Given the description of an element on the screen output the (x, y) to click on. 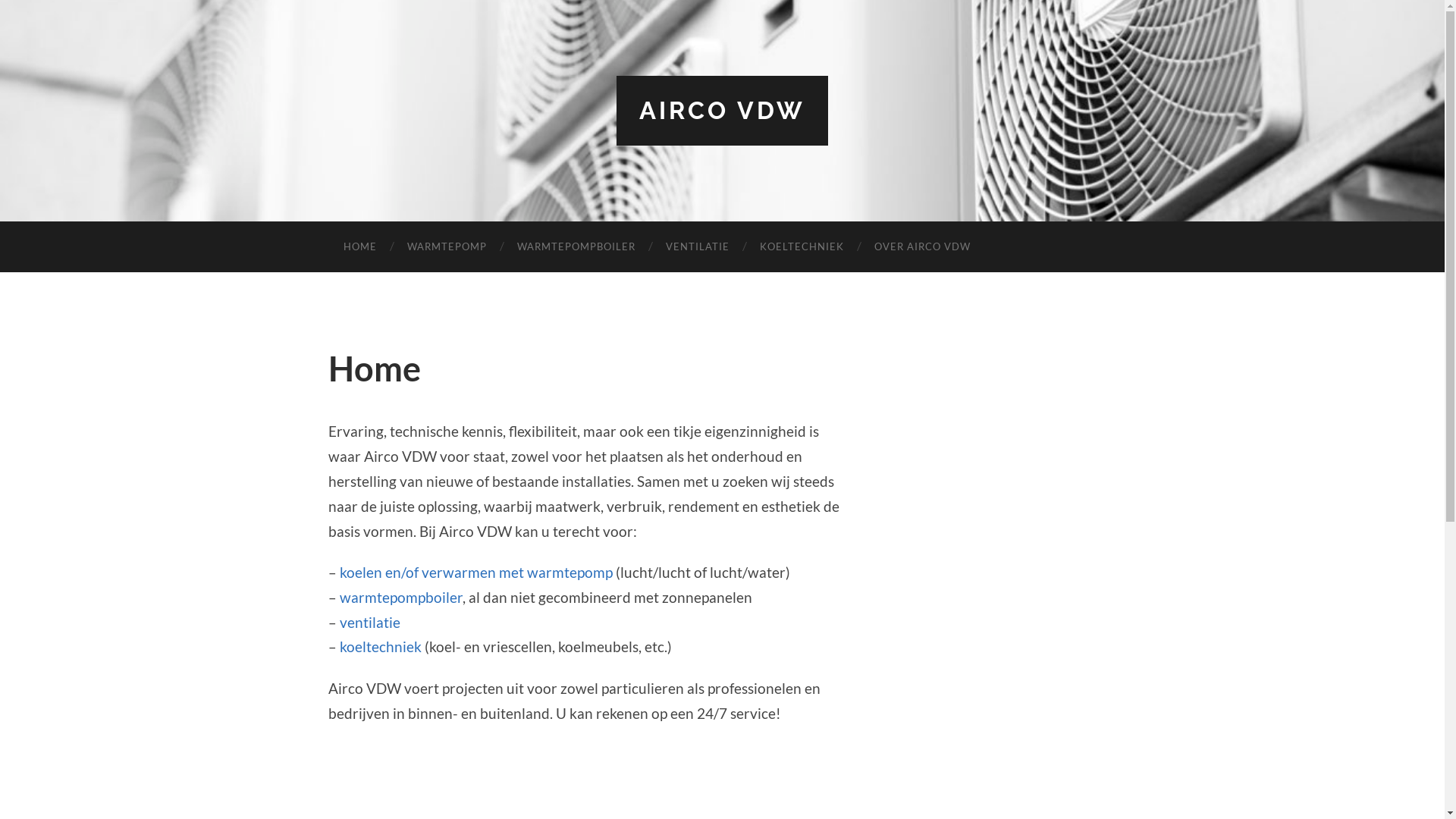
koelen en/of verwarmen met warmtepomp Element type: text (475, 571)
AIRCO VDW Element type: text (722, 110)
koeltechniek Element type: text (380, 646)
WARMTEPOMPBOILER Element type: text (576, 246)
HOME Element type: text (359, 246)
warmtepompboiler Element type: text (400, 596)
VENTILATIE Element type: text (697, 246)
ventilatie Element type: text (369, 621)
KOELTECHNIEK Element type: text (801, 246)
OVER AIRCO VDW Element type: text (921, 246)
WARMTEPOMP Element type: text (446, 246)
